Given the description of an element on the screen output the (x, y) to click on. 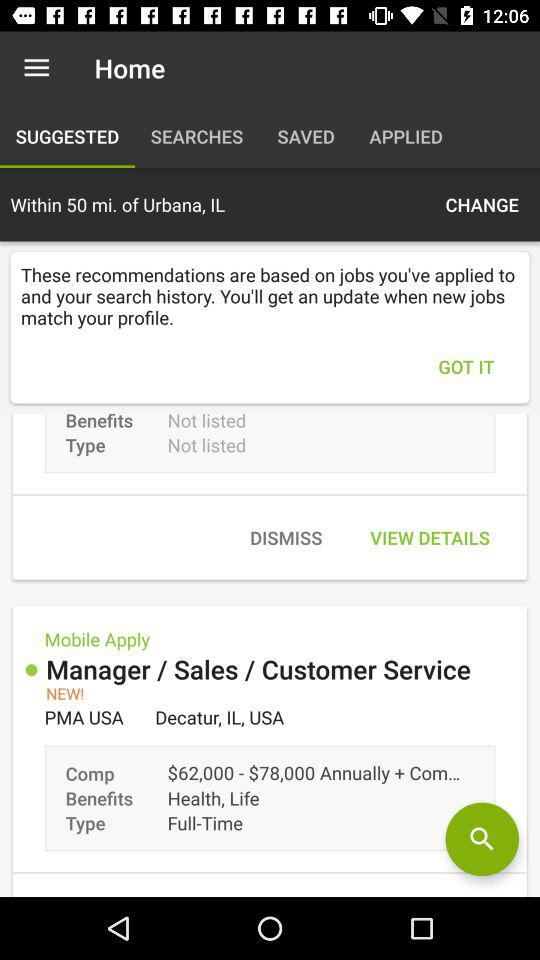
scroll to the got it (466, 366)
